Given the description of an element on the screen output the (x, y) to click on. 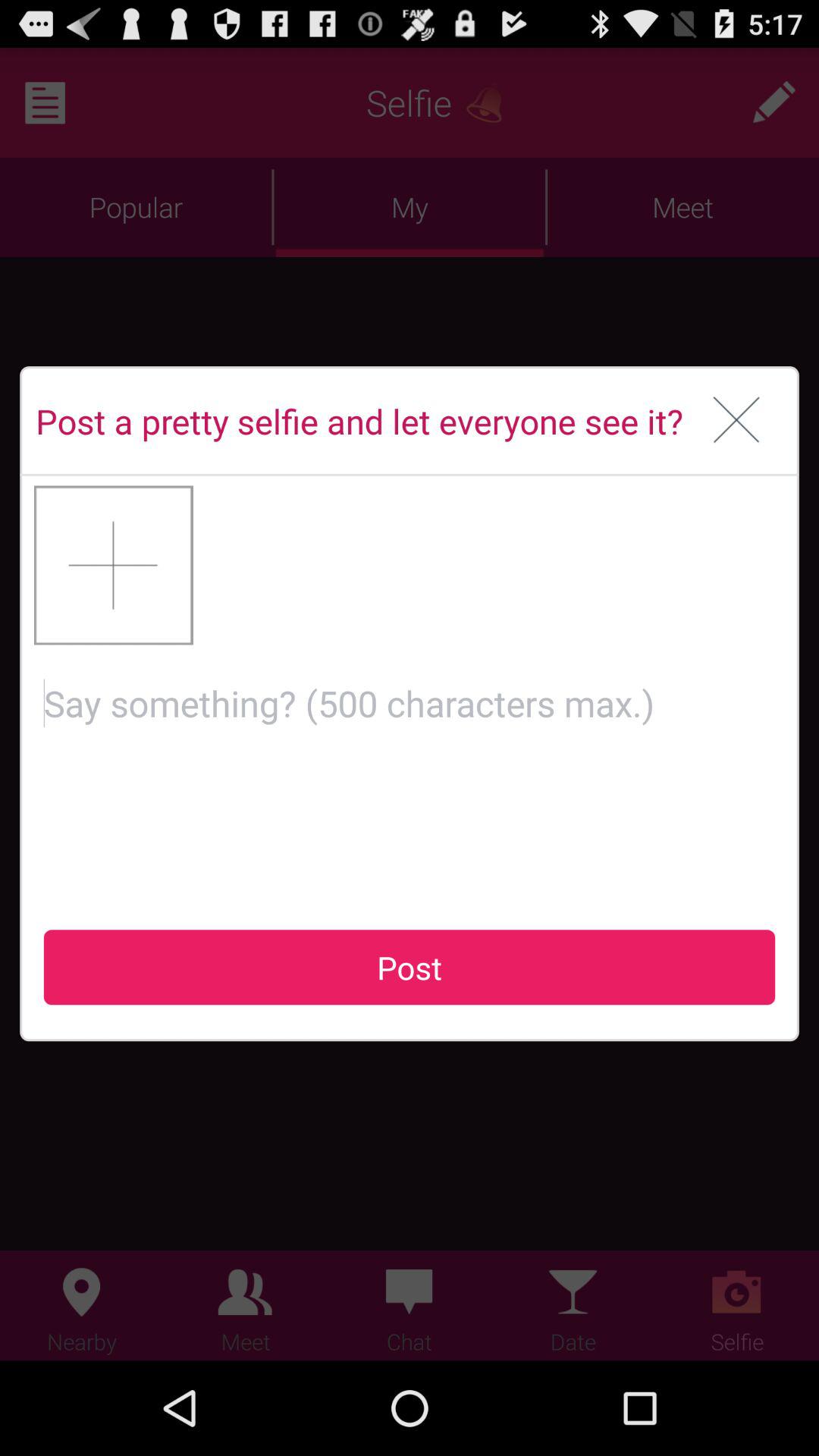
open icon at the top right corner (736, 421)
